Given the description of an element on the screen output the (x, y) to click on. 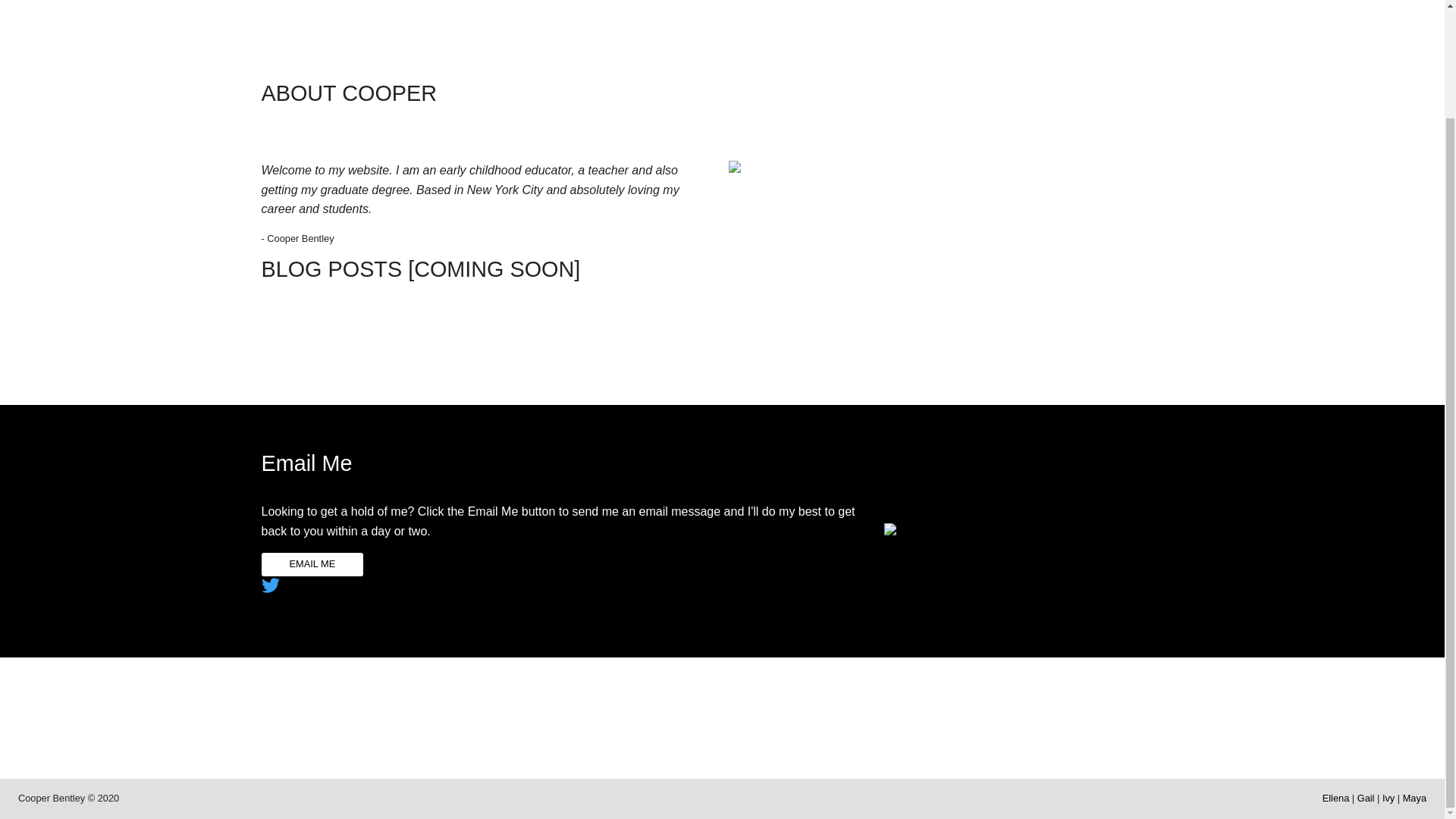
Gail (1365, 797)
Maya (1414, 797)
Ellena (1335, 797)
EMAIL ME (311, 564)
Gail (1365, 797)
EMAIL ME (311, 563)
Ivy (1387, 797)
Ellena (1335, 797)
Ivy (1387, 797)
Maya (1414, 797)
